Given the description of an element on the screen output the (x, y) to click on. 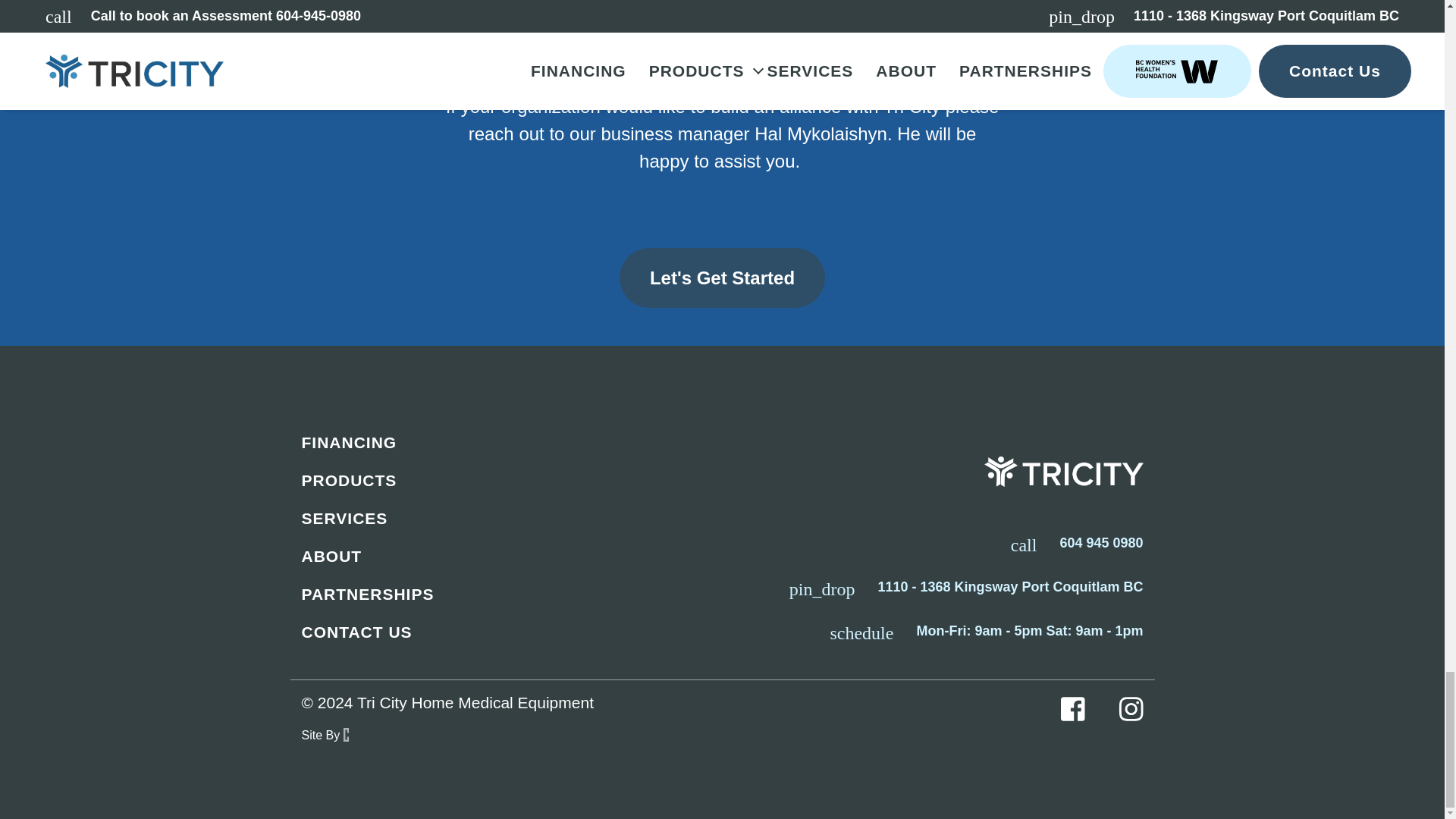
SERVICES (506, 518)
FINANCING (506, 442)
call 604 945 0980 (1076, 542)
Let's Get Started (722, 277)
PARTNERSHIPS (506, 593)
PRODUCTS (506, 480)
CONTACT US (506, 632)
Colony Digital (325, 733)
Colony (346, 735)
ABOUT (506, 555)
Site By Colony (325, 733)
